Given the description of an element on the screen output the (x, y) to click on. 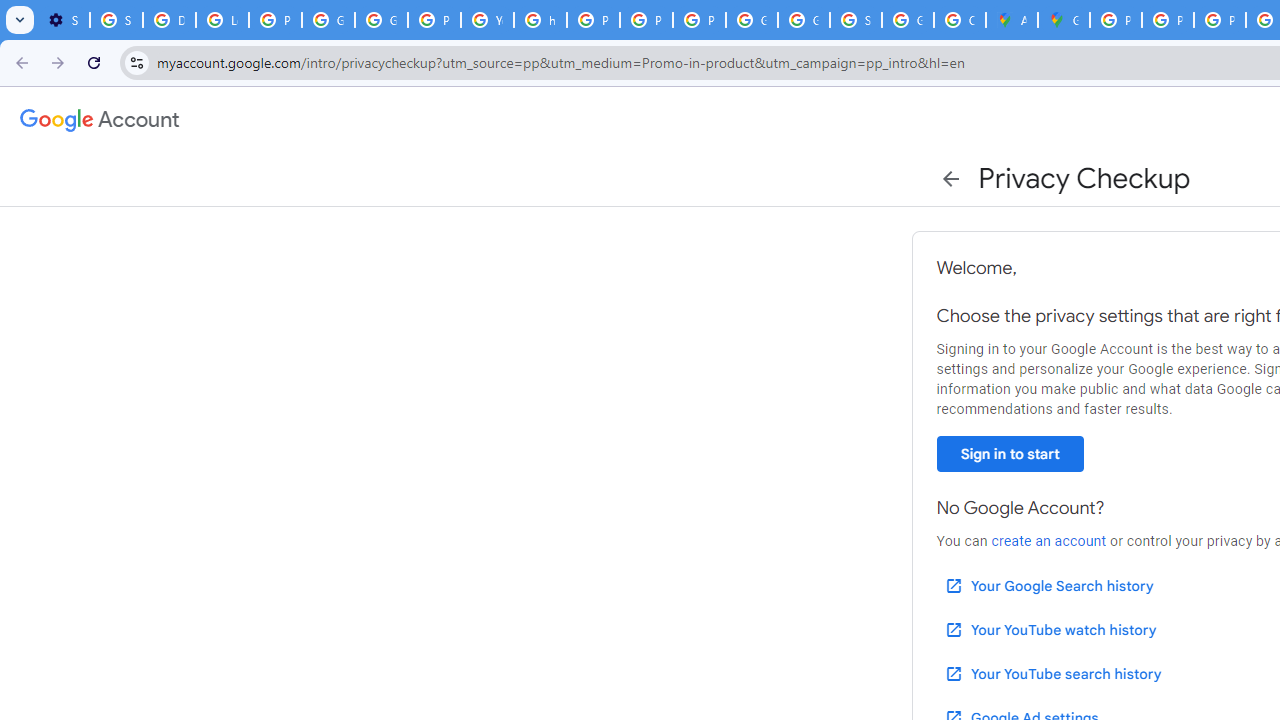
Your YouTube watch history (1049, 630)
Policy Accountability and Transparency - Transparency Center (1115, 20)
Google Account Help (328, 20)
Sign in - Google Accounts (116, 20)
Settings - On startup (63, 20)
Privacy Help Center - Policies Help (593, 20)
Delete photos & videos - Computer - Google Photos Help (169, 20)
